Given the description of an element on the screen output the (x, y) to click on. 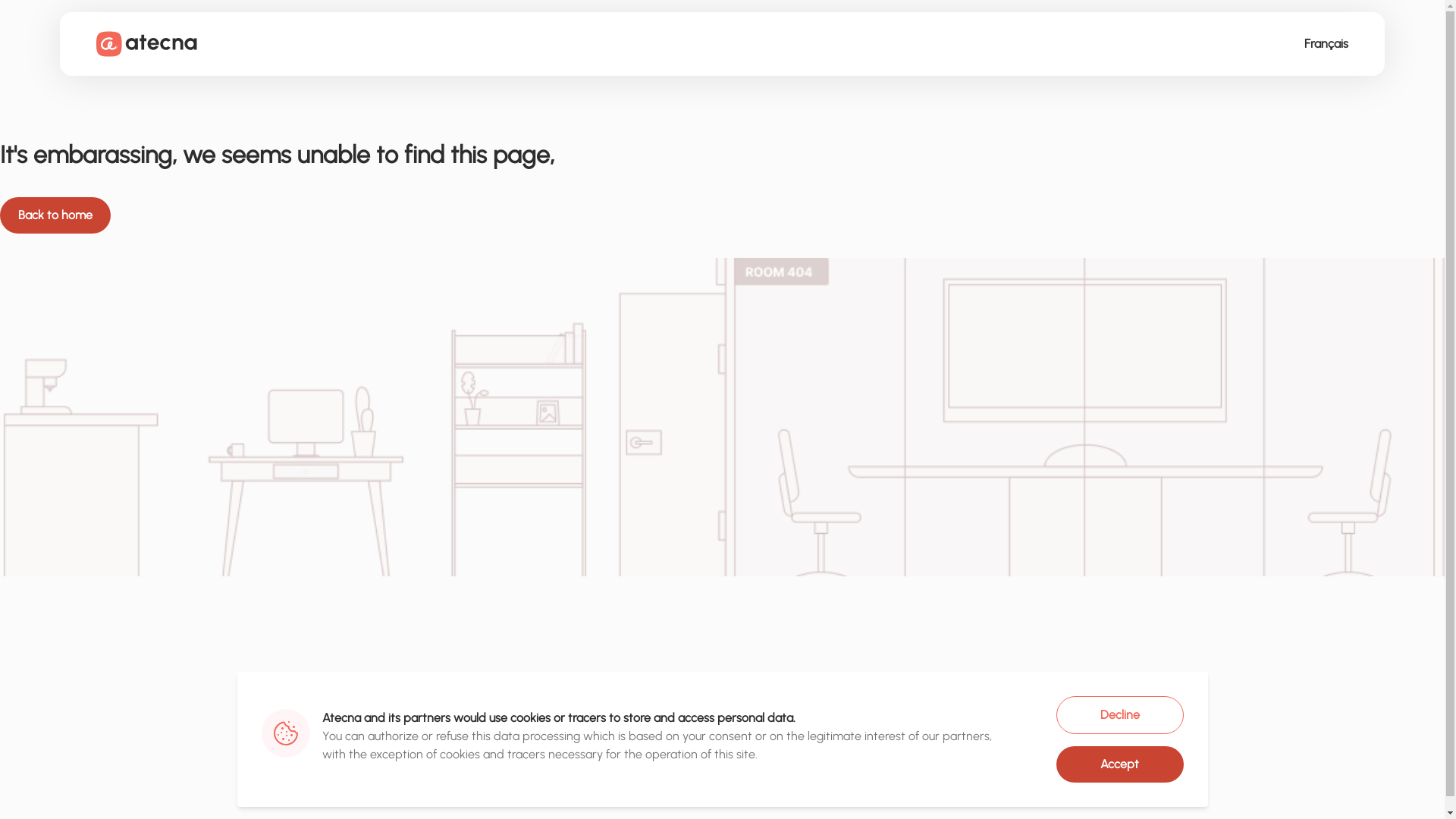
Back to home Element type: text (722, 215)
Decline Element type: text (1119, 715)
Back to home Element type: text (55, 215)
Accept Element type: text (1119, 764)
